Given the description of an element on the screen output the (x, y) to click on. 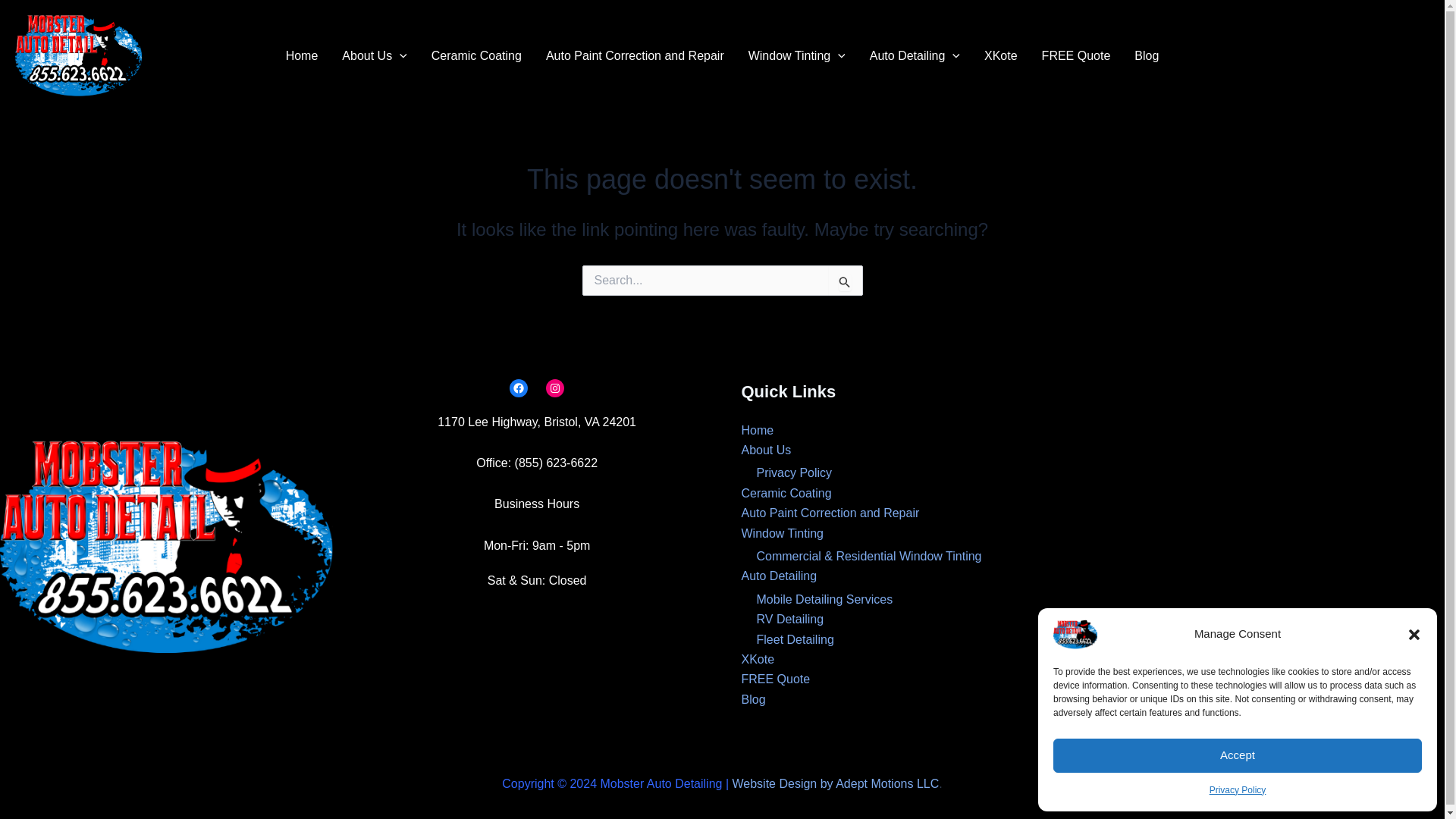
Home (301, 55)
Privacy Policy (1237, 790)
XKote (1000, 55)
Accept (1237, 755)
Search (844, 281)
FREE Quote (1075, 55)
About Us (374, 55)
Auto Detailing (914, 55)
Window Tinting (796, 55)
Auto Paint Correction and Repair (635, 55)
